Given the description of an element on the screen output the (x, y) to click on. 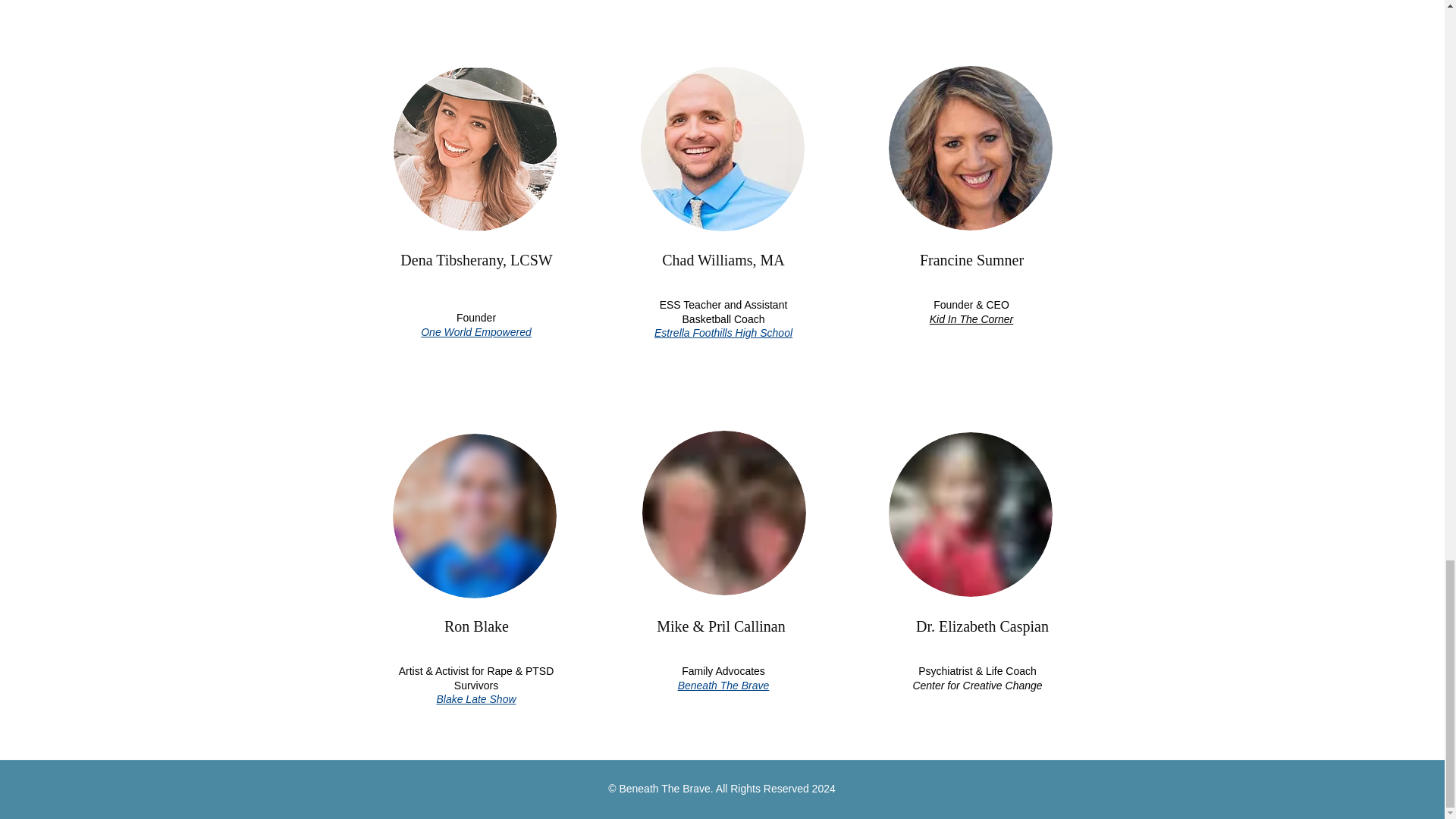
One World Empowered (475, 331)
guy2.jpg (474, 148)
guy2.jpg (723, 512)
guy2.jpg (474, 516)
guy2.jpg (721, 148)
guy2.jpg (970, 148)
Kid In The Corner (971, 318)
Beneath The Brave (724, 685)
Estrella Foothills High School (722, 332)
Blake Late Show (475, 698)
